Given the description of an element on the screen output the (x, y) to click on. 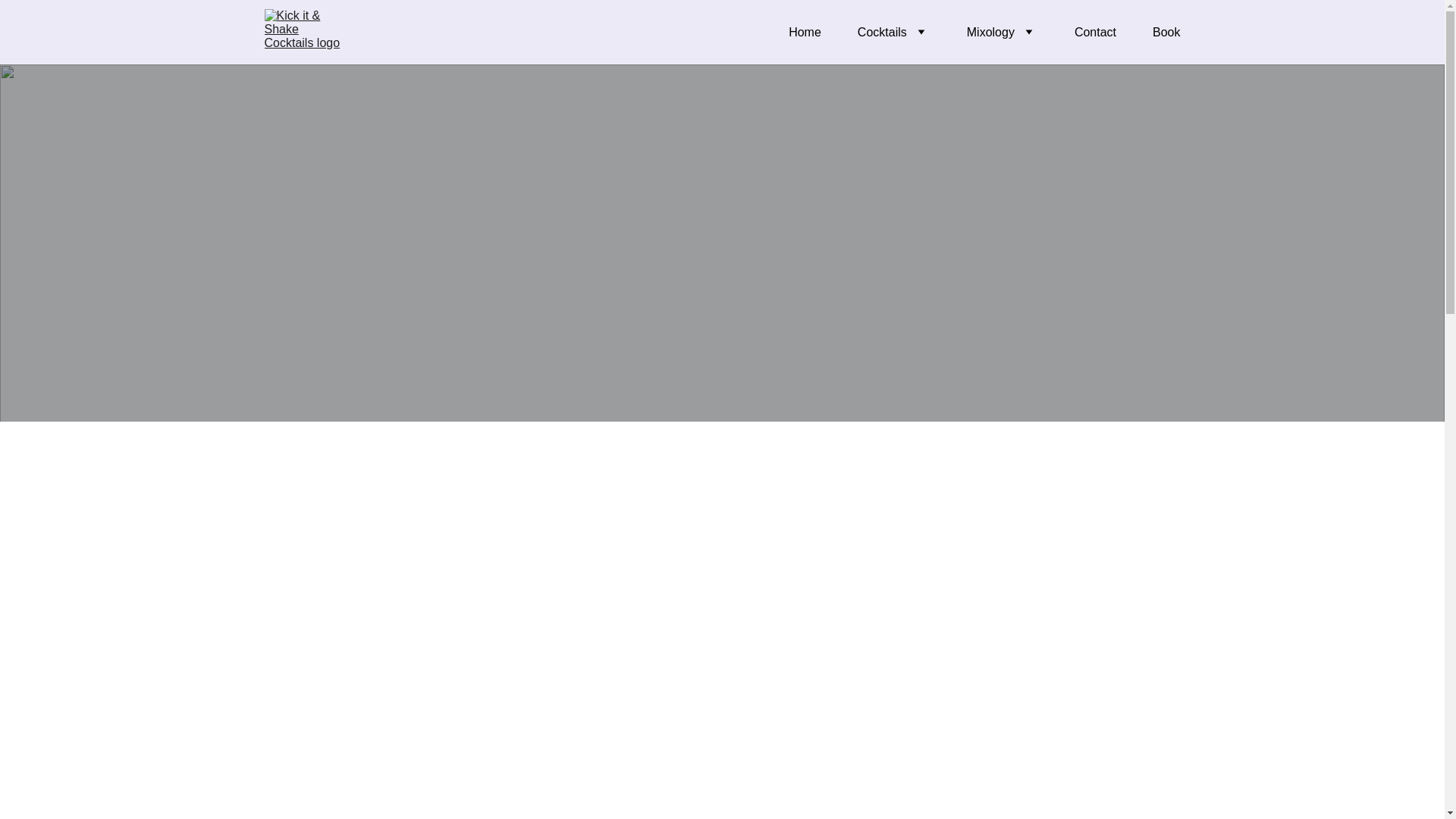
Home (805, 32)
Book (1166, 32)
Contact (1095, 32)
